Given the description of an element on the screen output the (x, y) to click on. 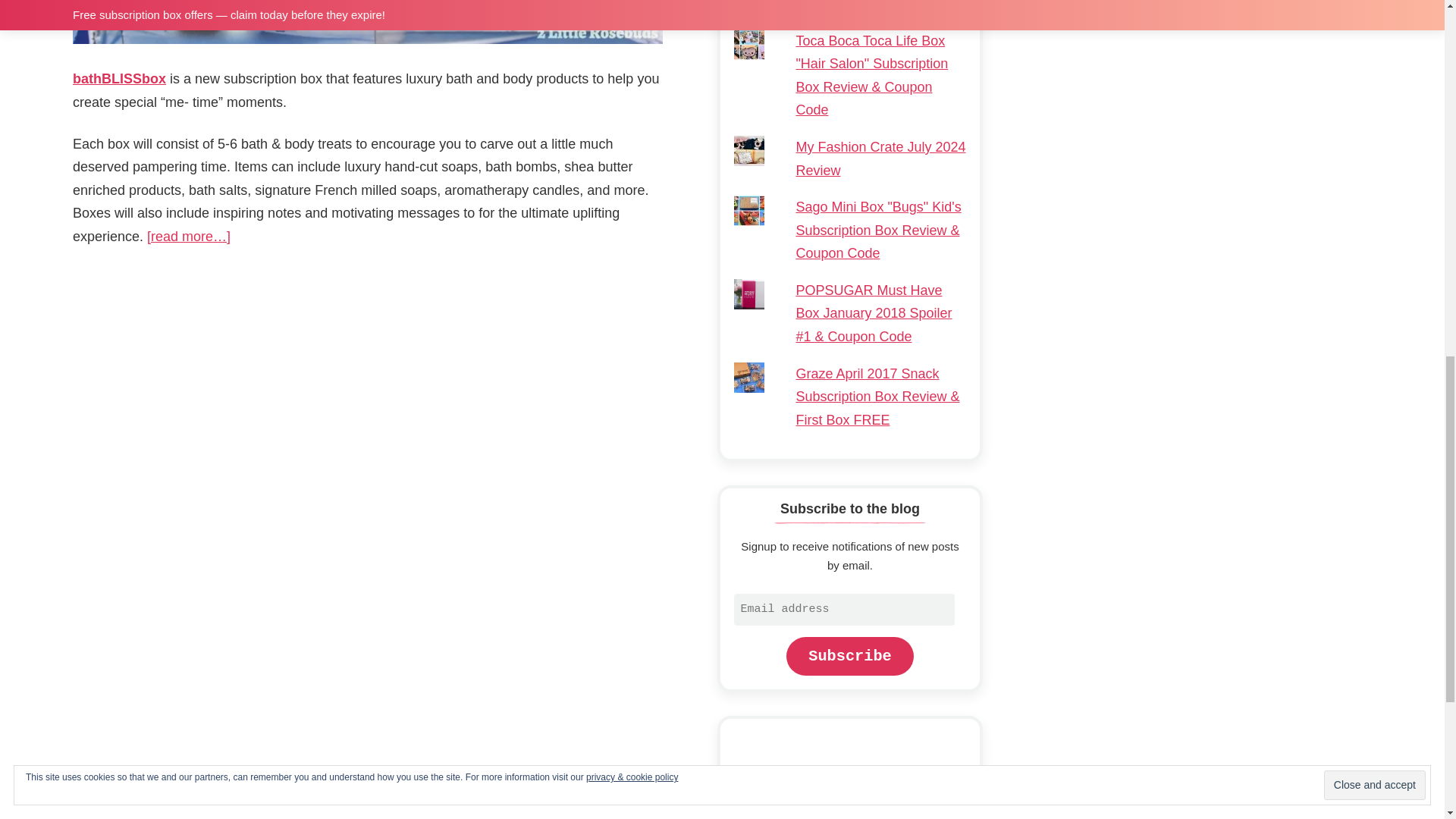
My Fashion Crate July 2024 Review (879, 158)
bathBLISSbox (118, 78)
